Given the description of an element on the screen output the (x, y) to click on. 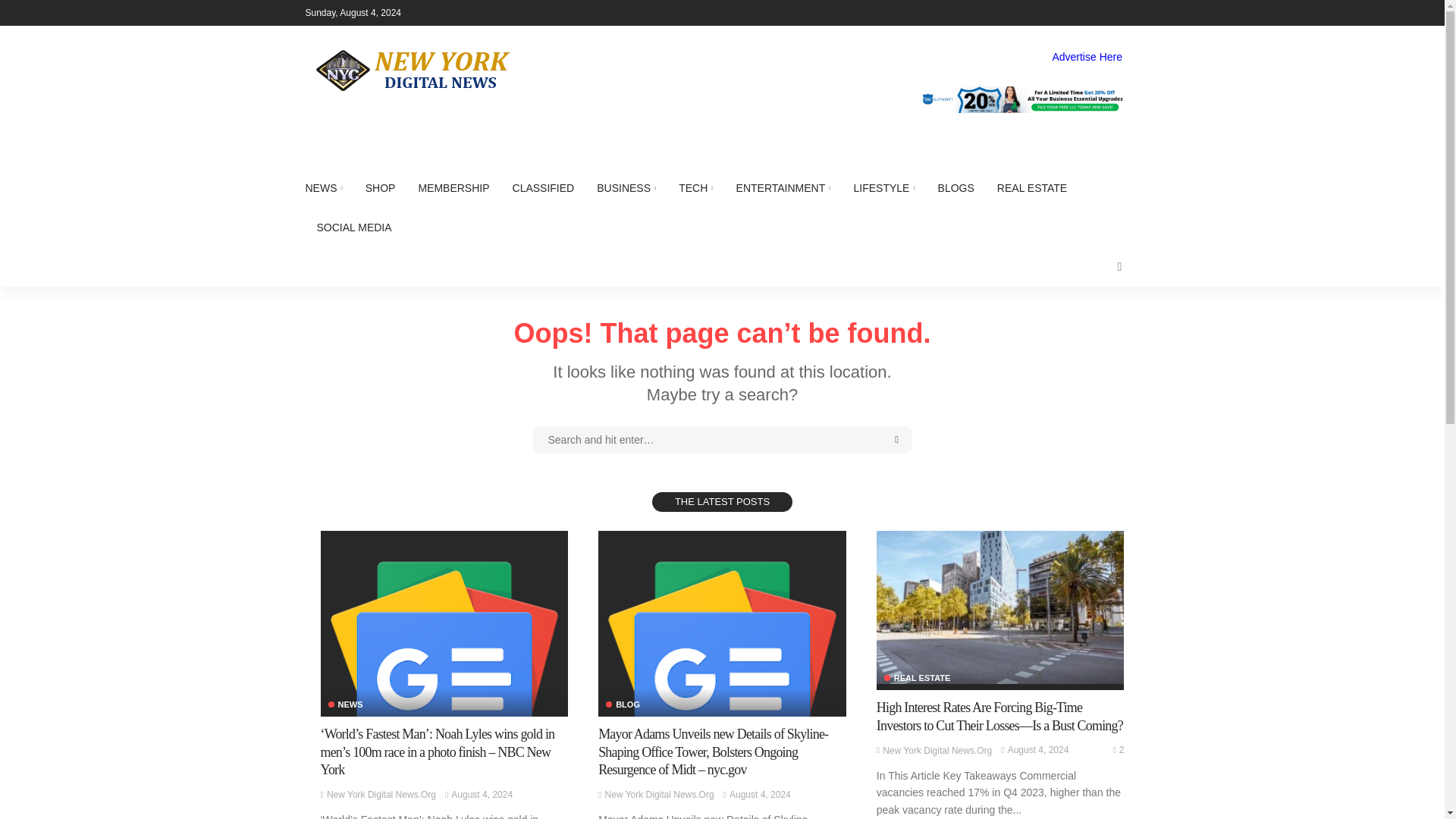
search (1118, 266)
TECH (694, 188)
LIFESTYLE (883, 188)
BUSINESS (625, 188)
search for: (721, 439)
ENTERTAINMENT (784, 188)
SHOP (380, 188)
MEMBERSHIP (453, 188)
Blog (622, 705)
Real Estate (916, 678)
News (344, 705)
CLASSIFIED (543, 188)
NEWS (328, 188)
